Given the description of an element on the screen output the (x, y) to click on. 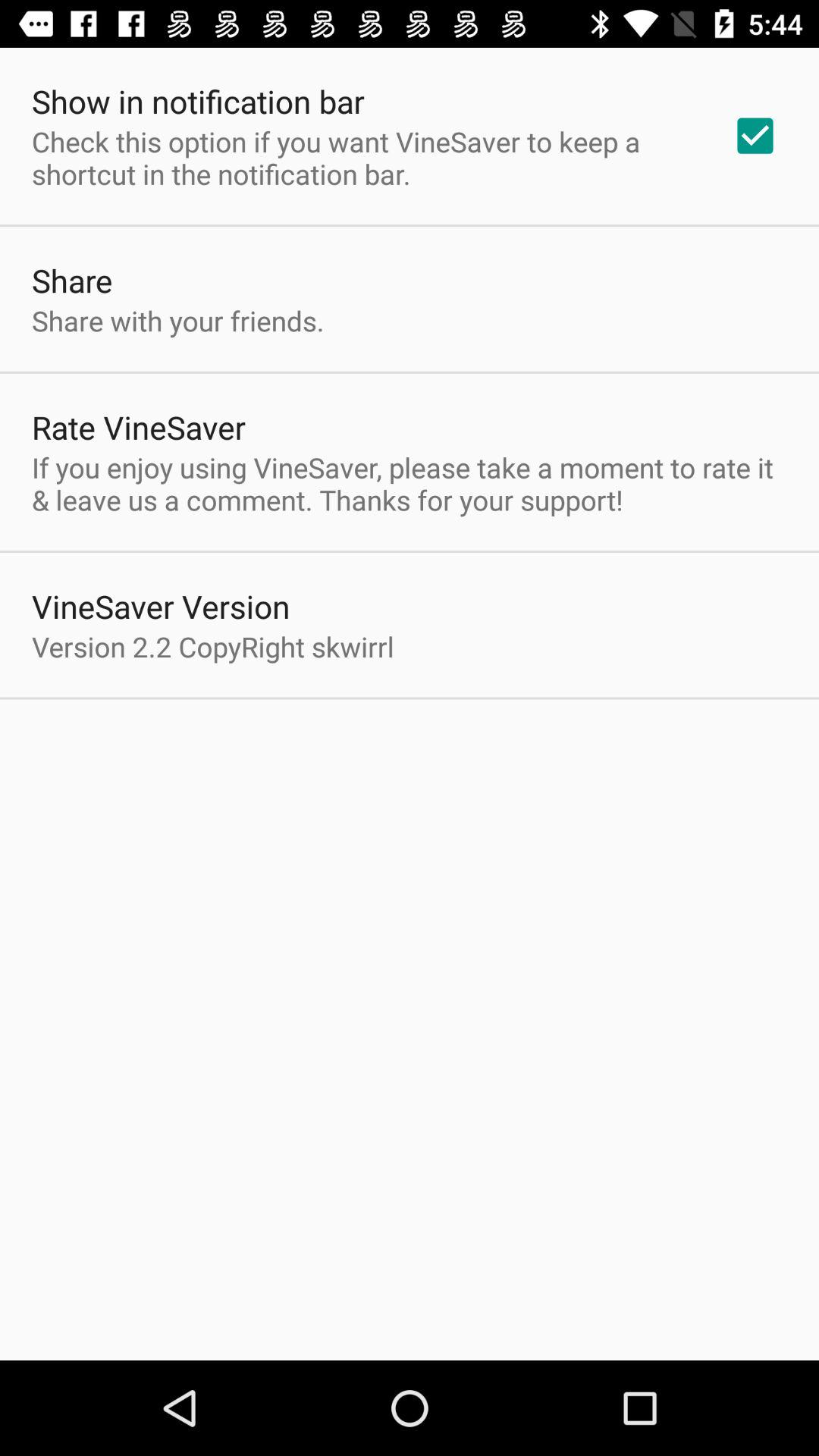
launch the vinesaver version (160, 605)
